Given the description of an element on the screen output the (x, y) to click on. 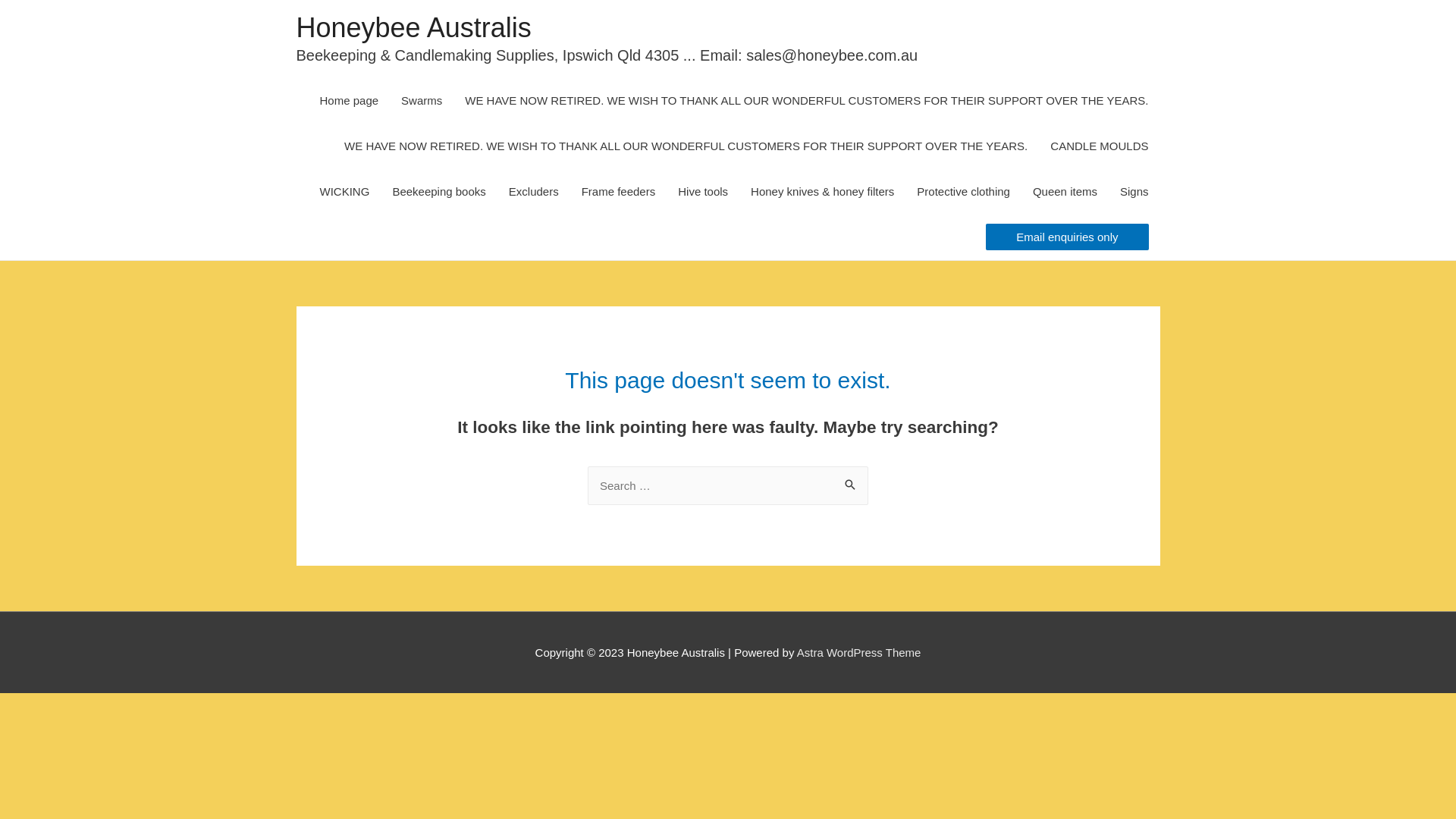
Honey knives & honey filters Element type: text (822, 191)
Hive tools Element type: text (702, 191)
Frame feeders Element type: text (618, 191)
Protective clothing Element type: text (963, 191)
WICKING Element type: text (344, 191)
Astra WordPress Theme Element type: text (859, 652)
Home page Element type: text (349, 100)
Search Element type: text (851, 481)
Honeybee Australis Element type: text (412, 27)
Signs Element type: text (1134, 191)
Beekeeping books Element type: text (438, 191)
Swarms Element type: text (421, 100)
Email enquiries only Element type: text (1066, 236)
CANDLE MOULDS Element type: text (1098, 146)
Excluders Element type: text (533, 191)
Queen items Element type: text (1064, 191)
